Given the description of an element on the screen output the (x, y) to click on. 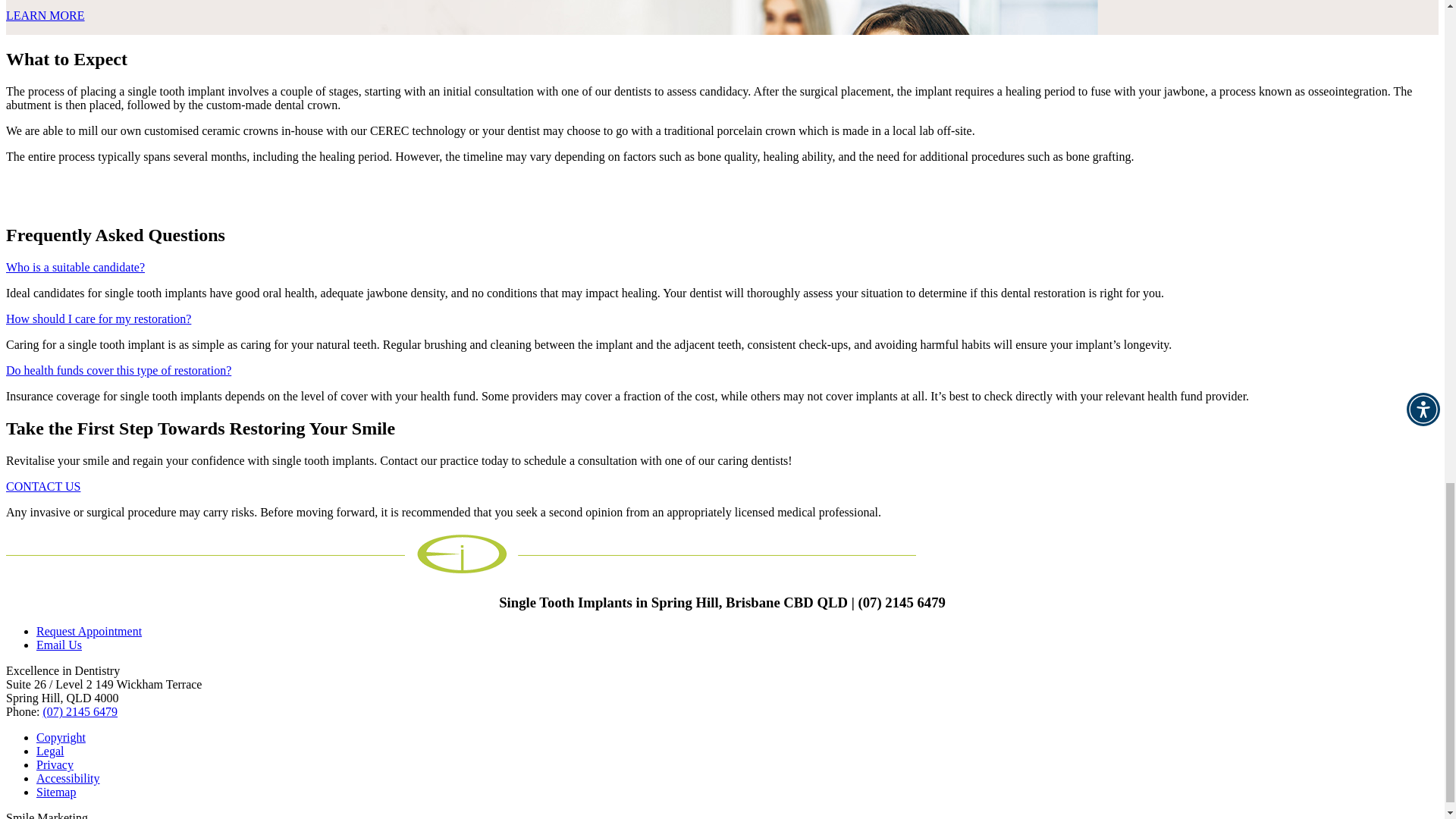
How should I care for my restoration? (97, 318)
Who is a suitable candidate? (74, 267)
Do health funds cover this type of restoration? (118, 369)
Contact (58, 644)
